Given the description of an element on the screen output the (x, y) to click on. 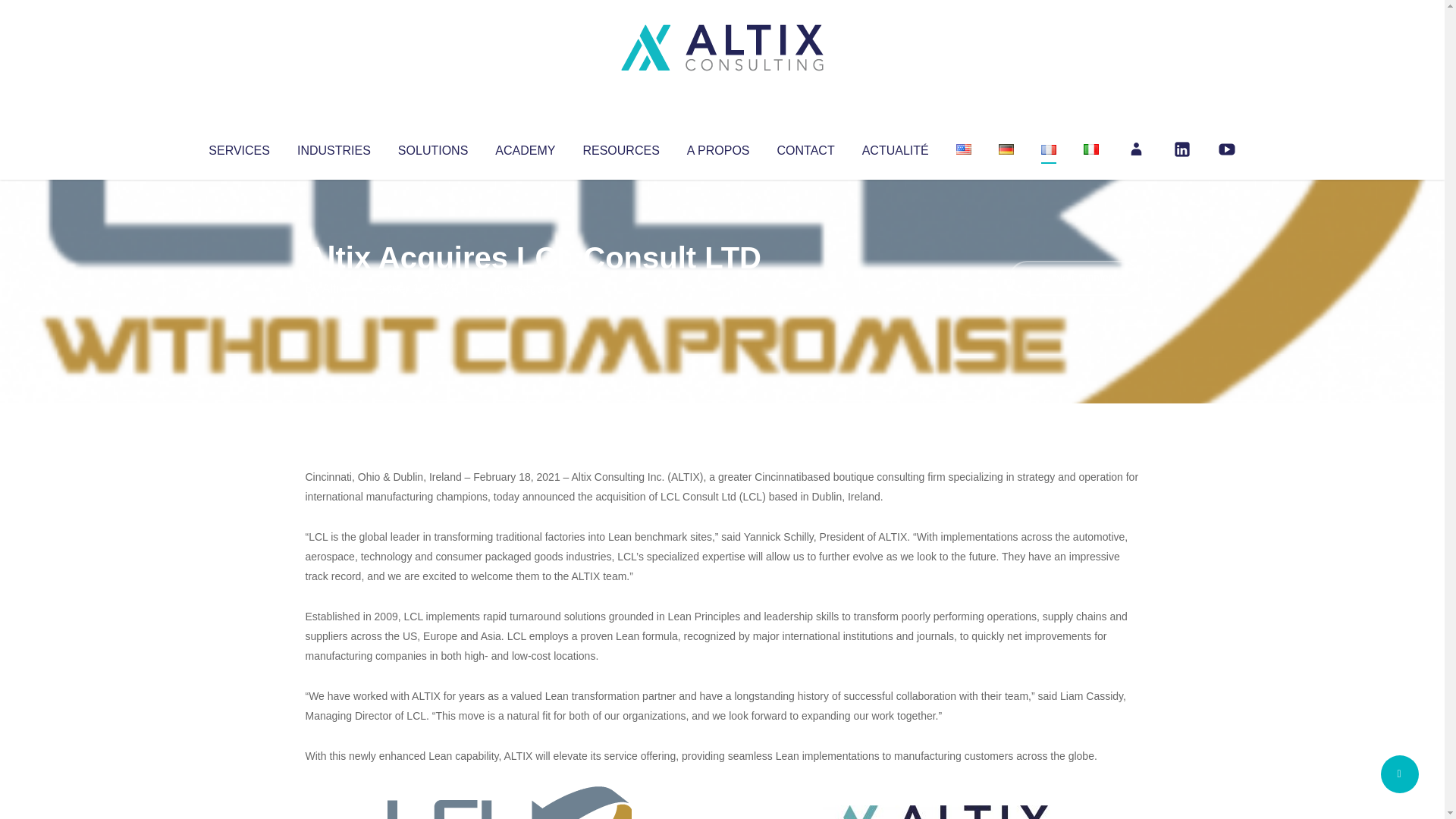
ACADEMY (524, 146)
A PROPOS (718, 146)
Altix (333, 287)
INDUSTRIES (334, 146)
SOLUTIONS (432, 146)
RESOURCES (620, 146)
SERVICES (238, 146)
Articles par Altix (333, 287)
No Comments (1073, 278)
Uncategorized (530, 287)
